Given the description of an element on the screen output the (x, y) to click on. 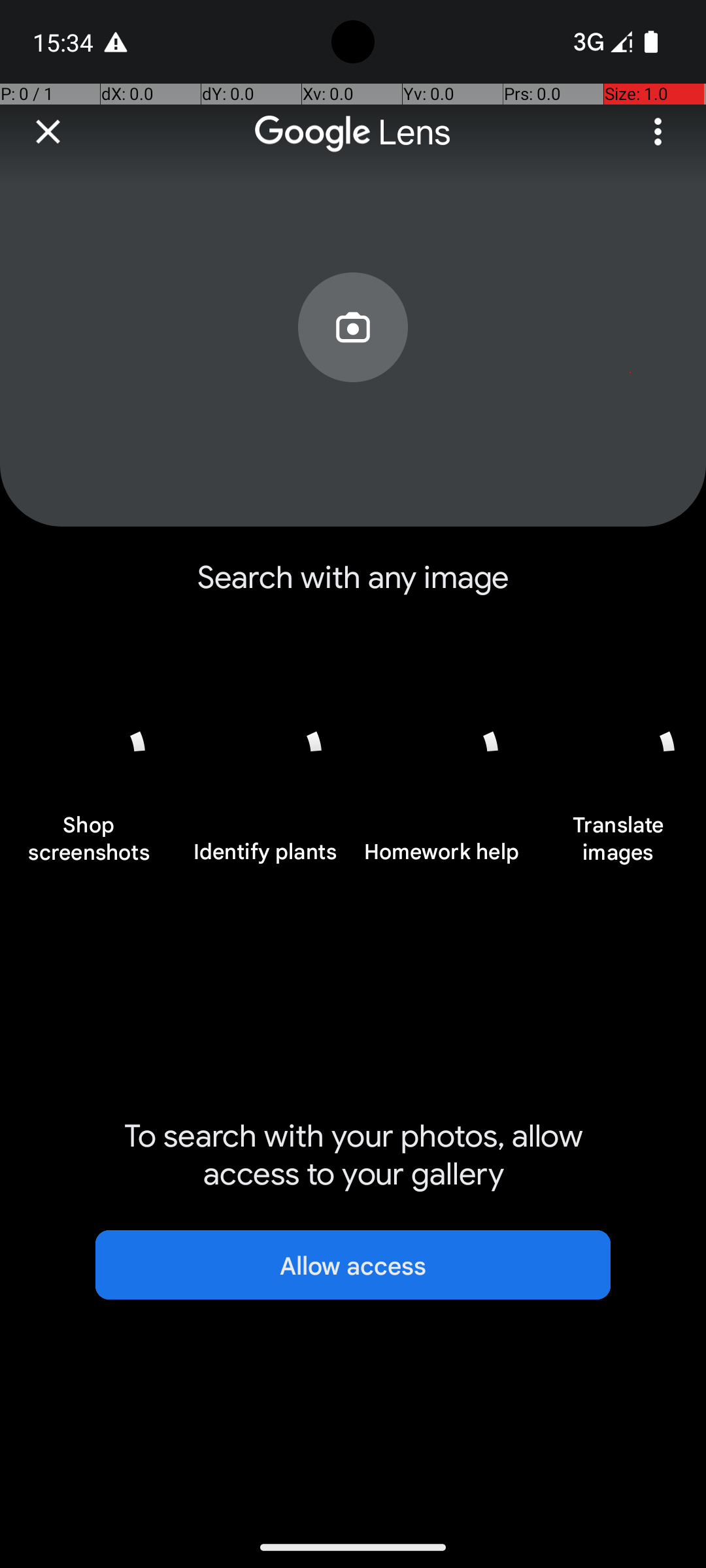
Close Element type: android.widget.ImageView (47, 131)
More options Element type: android.widget.ImageView (657, 131)
Google Lens Element type: android.view.ViewGroup (352, 132)
Search with your camera Element type: android.widget.FrameLayout (353, 356)
Search with any image Element type: android.widget.TextView (353, 587)
Shop screenshots Element type: android.widget.TextView (88, 845)
Identify plants Element type: android.widget.TextView (264, 858)
Homework help Element type: android.widget.TextView (441, 858)
Translate images Element type: android.widget.TextView (617, 845)
To search with your photos, allow access to your gallery Element type: android.widget.TextView (352, 1154)
Allow access Element type: android.widget.Button (352, 1264)
